Given the description of an element on the screen output the (x, y) to click on. 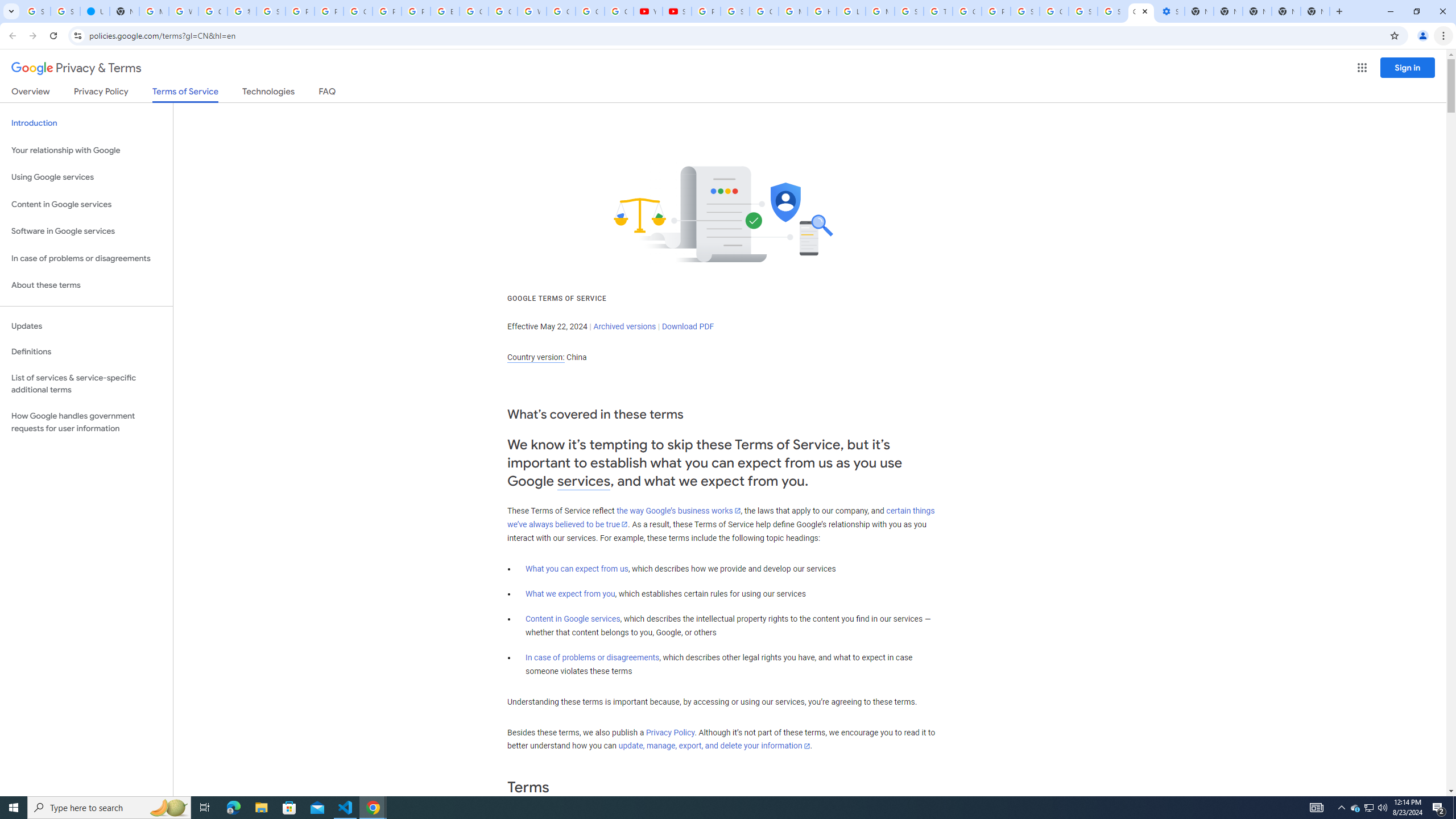
Sign in - Google Accounts (65, 11)
Trusted Information and Content - Google Safety Center (938, 11)
Welcome to My Activity (531, 11)
New Tab (1315, 11)
Who is my administrator? - Google Account Help (183, 11)
Subscriptions - YouTube (677, 11)
